Given the description of an element on the screen output the (x, y) to click on. 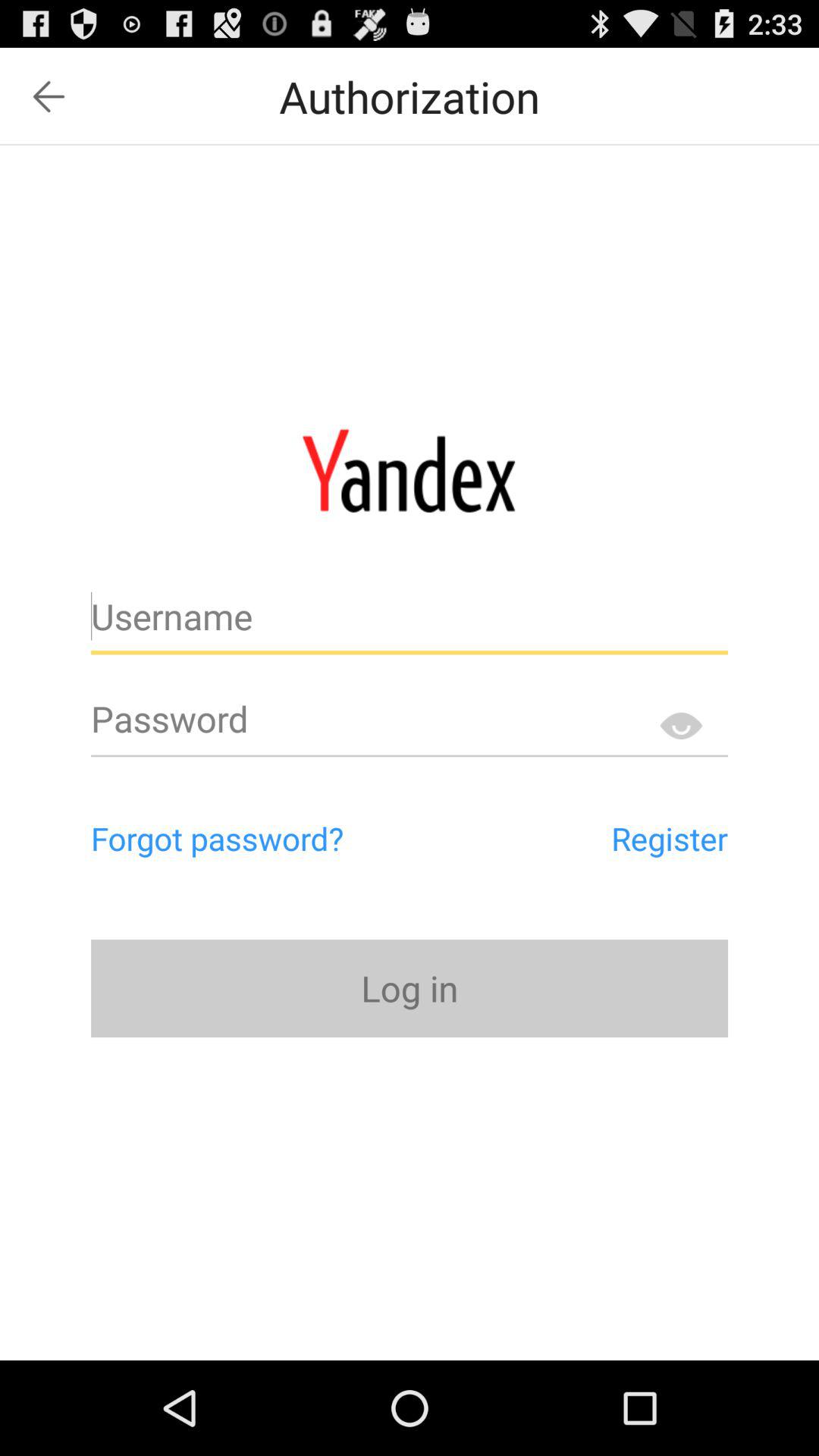
enter text (409, 623)
